Given the description of an element on the screen output the (x, y) to click on. 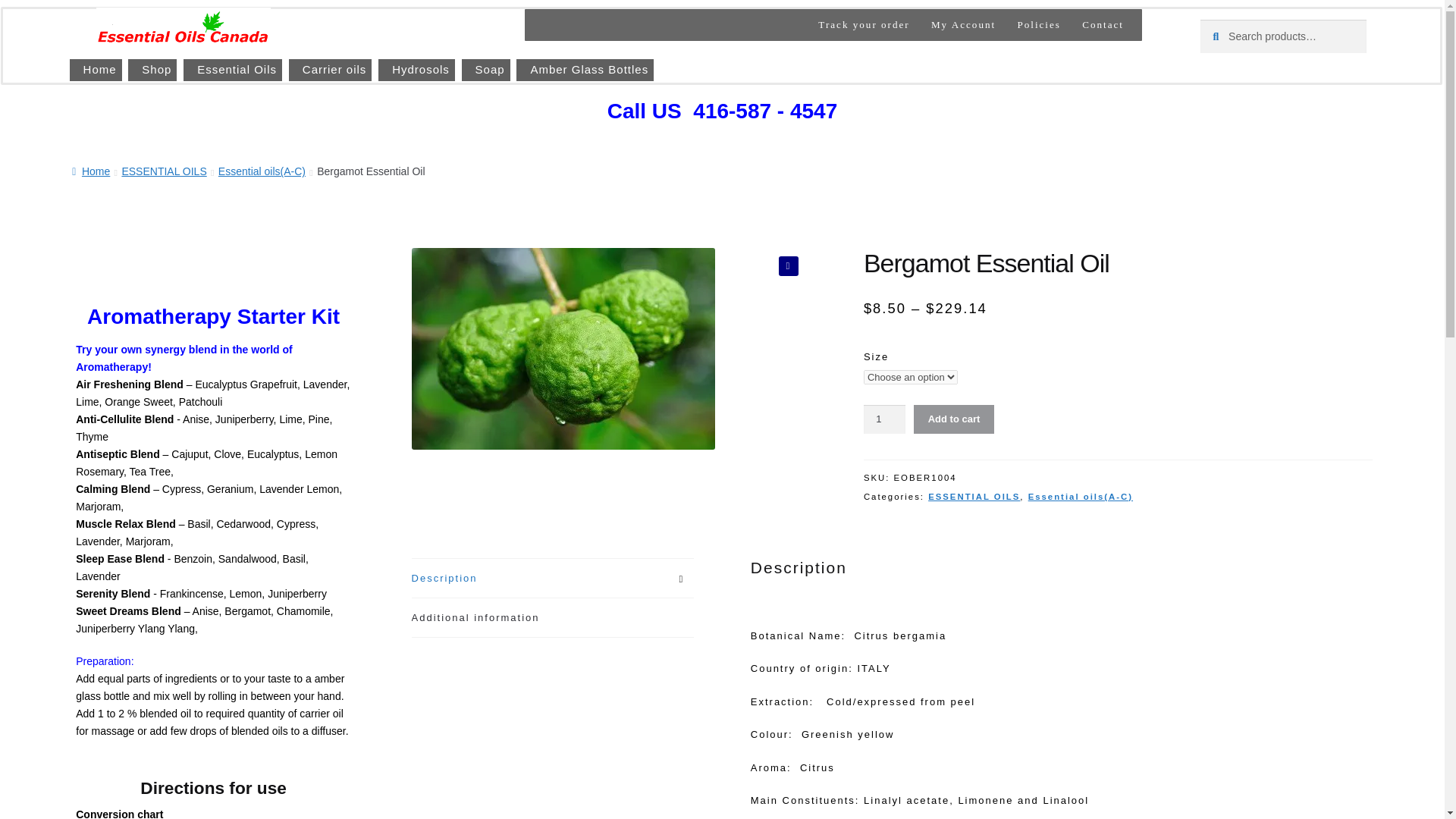
Carrier oils (330, 69)
Add to cart (953, 418)
ESSENTIAL OILS (163, 171)
Hydrosols (416, 69)
My Account (962, 24)
Home (90, 171)
Policies (1038, 24)
Amber Glass Bottles (584, 69)
Home (95, 69)
Contact (1103, 24)
